Given the description of an element on the screen output the (x, y) to click on. 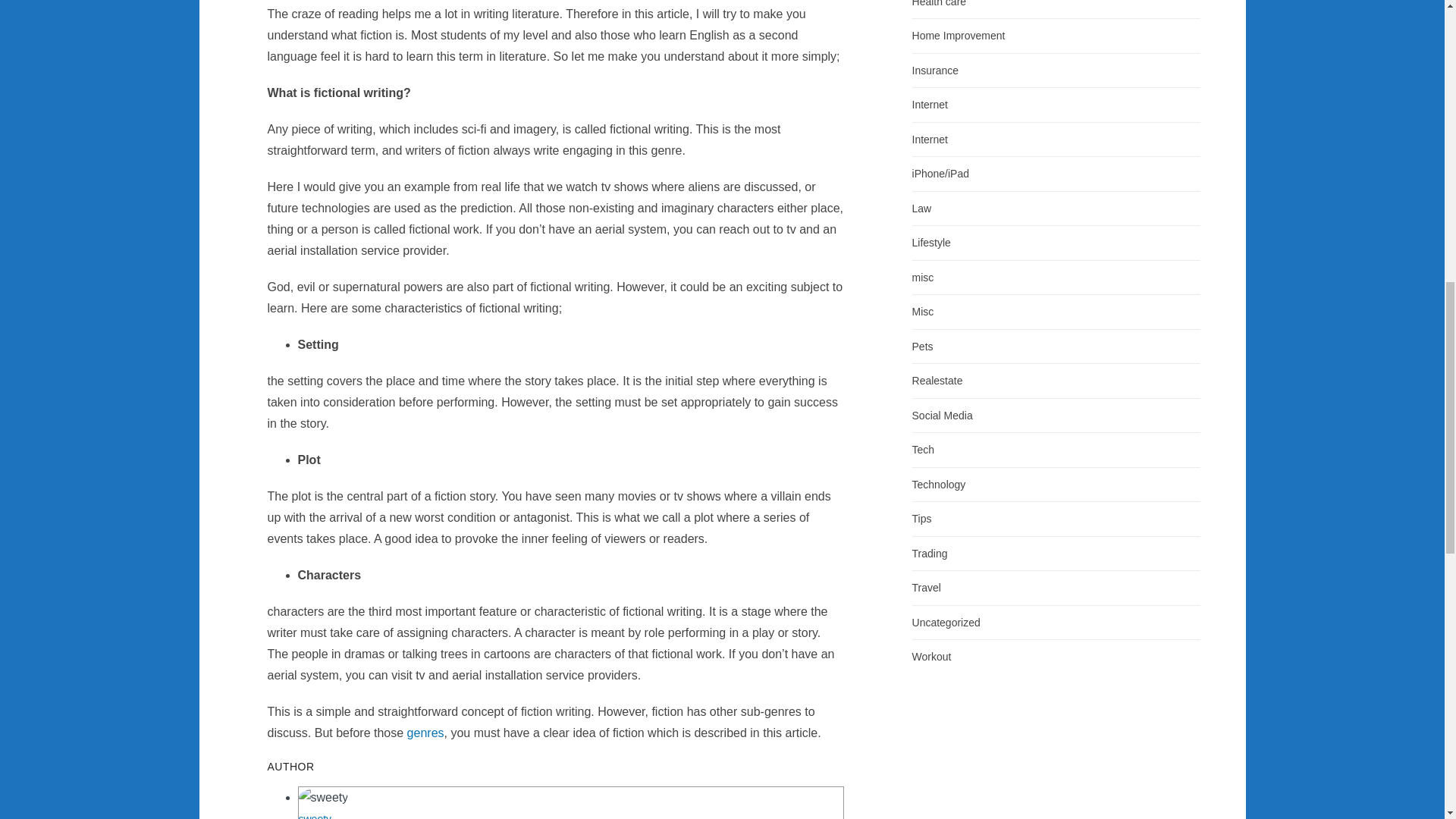
sweety (314, 816)
genres (425, 732)
sweety (314, 816)
